Given the description of an element on the screen output the (x, y) to click on. 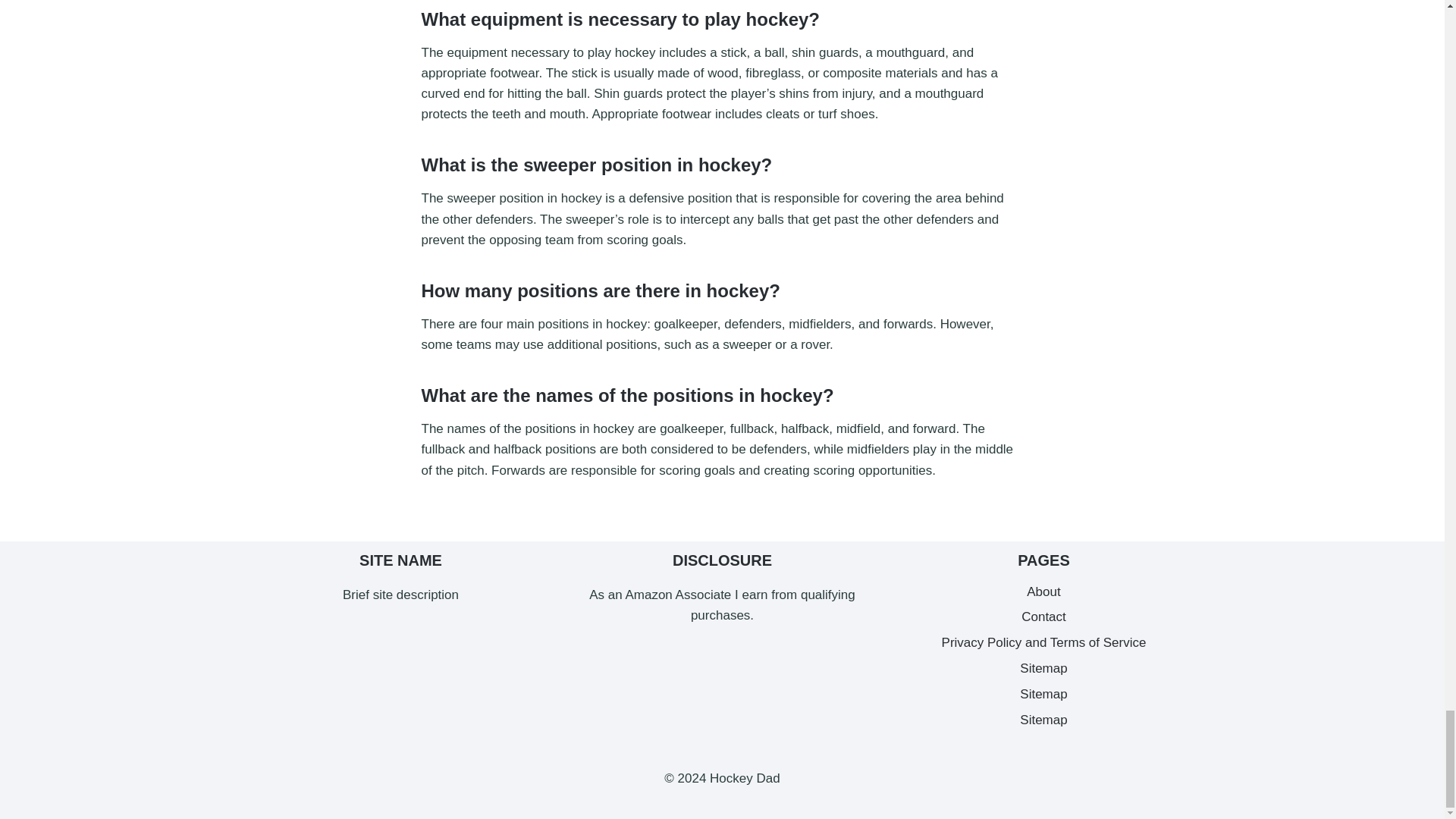
Sitemap (1044, 720)
Privacy Policy and Terms of Service (1044, 643)
Sitemap (1044, 669)
About (1044, 592)
Sitemap (1044, 695)
Contact (1044, 617)
